Given the description of an element on the screen output the (x, y) to click on. 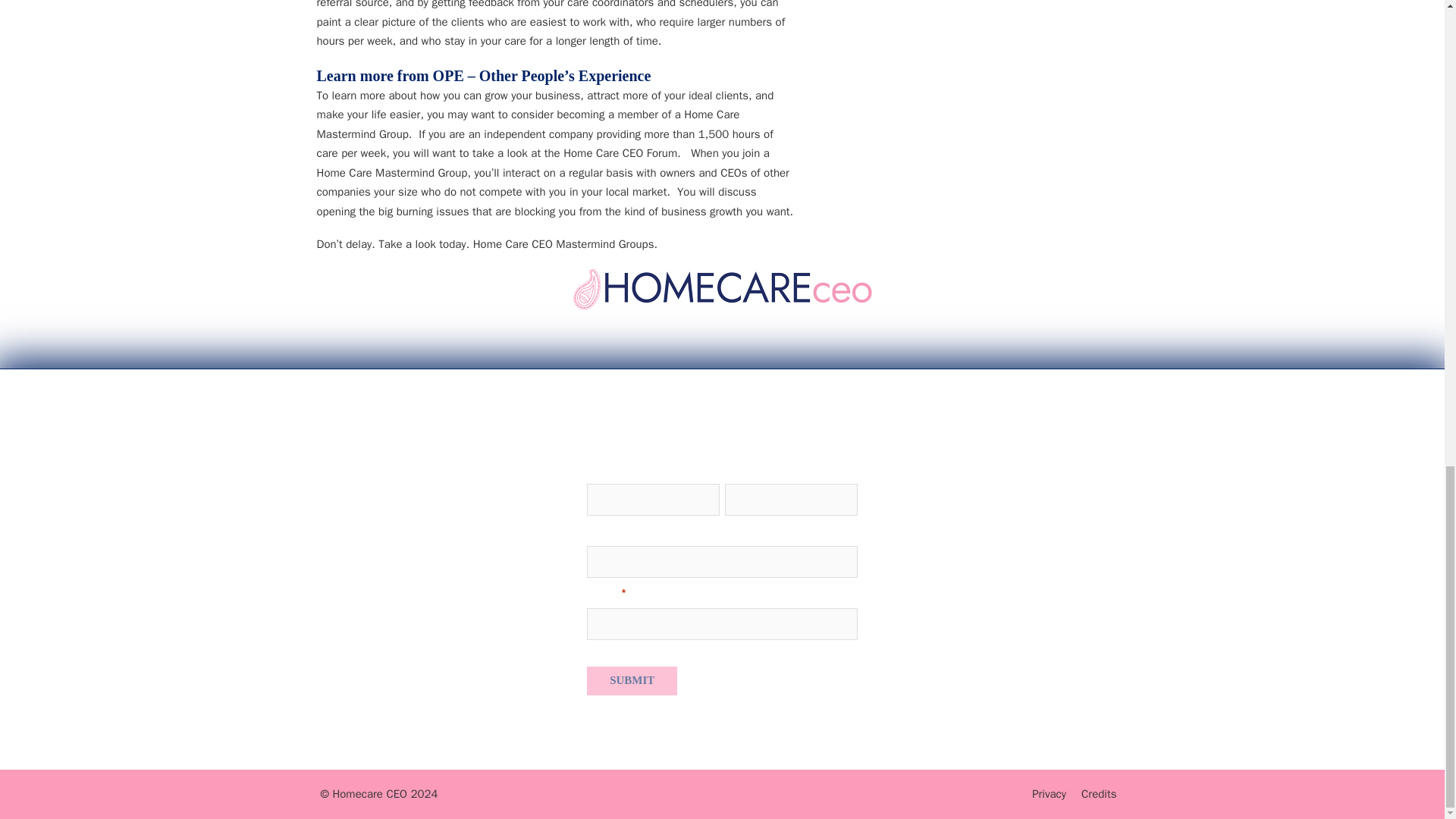
Submit (631, 680)
Home Care CEO Mastermind Groups. (565, 243)
Privacy (1048, 793)
Credits (1098, 793)
Submit (631, 680)
